Given the description of an element on the screen output the (x, y) to click on. 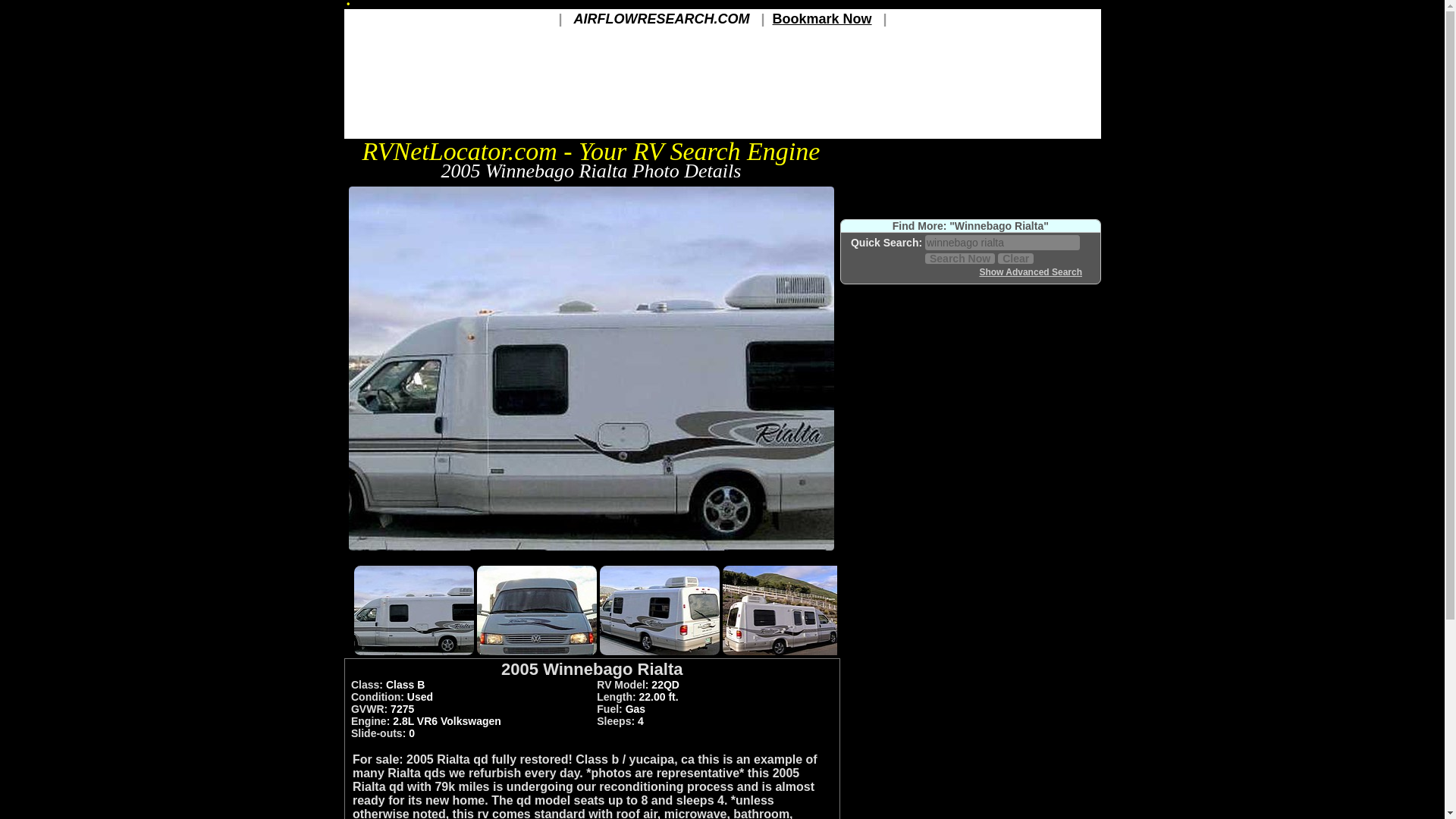
Advertisement (590, 556)
Advertisement (970, 408)
Advertisement (970, 626)
2005 Winnebago Rialta (590, 551)
Advertisement (970, 778)
